Given the description of an element on the screen output the (x, y) to click on. 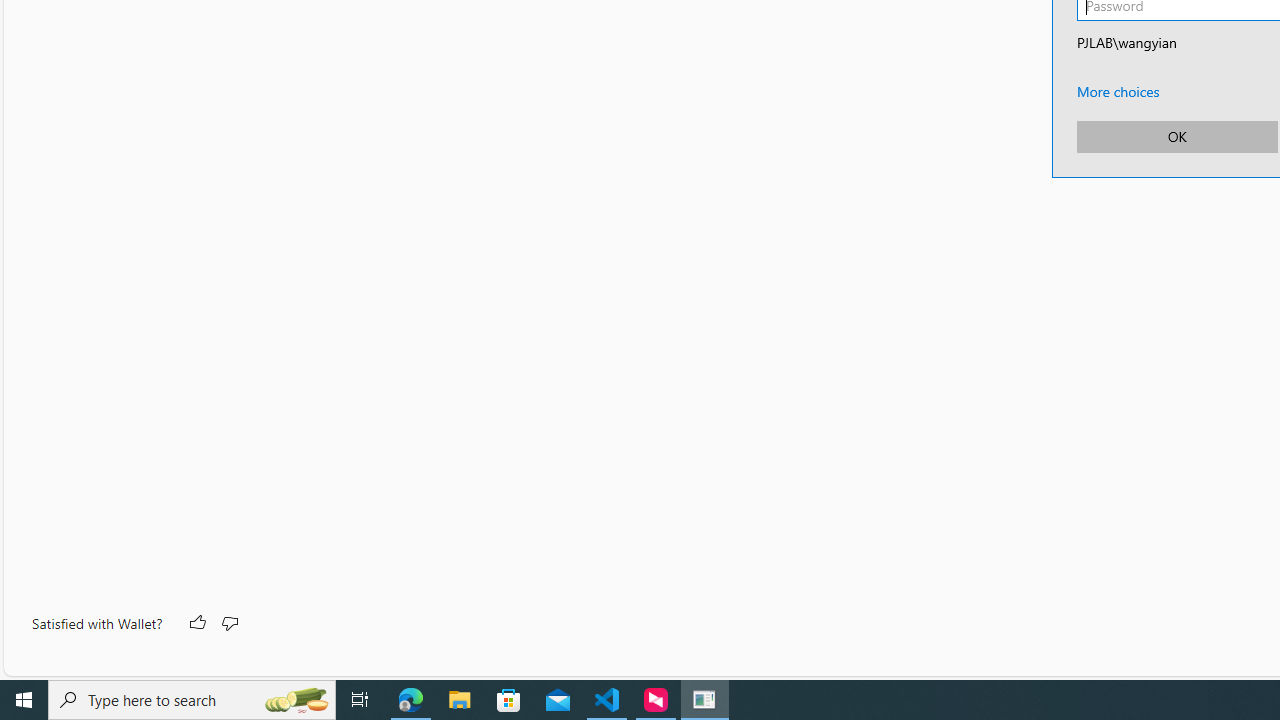
Start (24, 699)
